Given the description of an element on the screen output the (x, y) to click on. 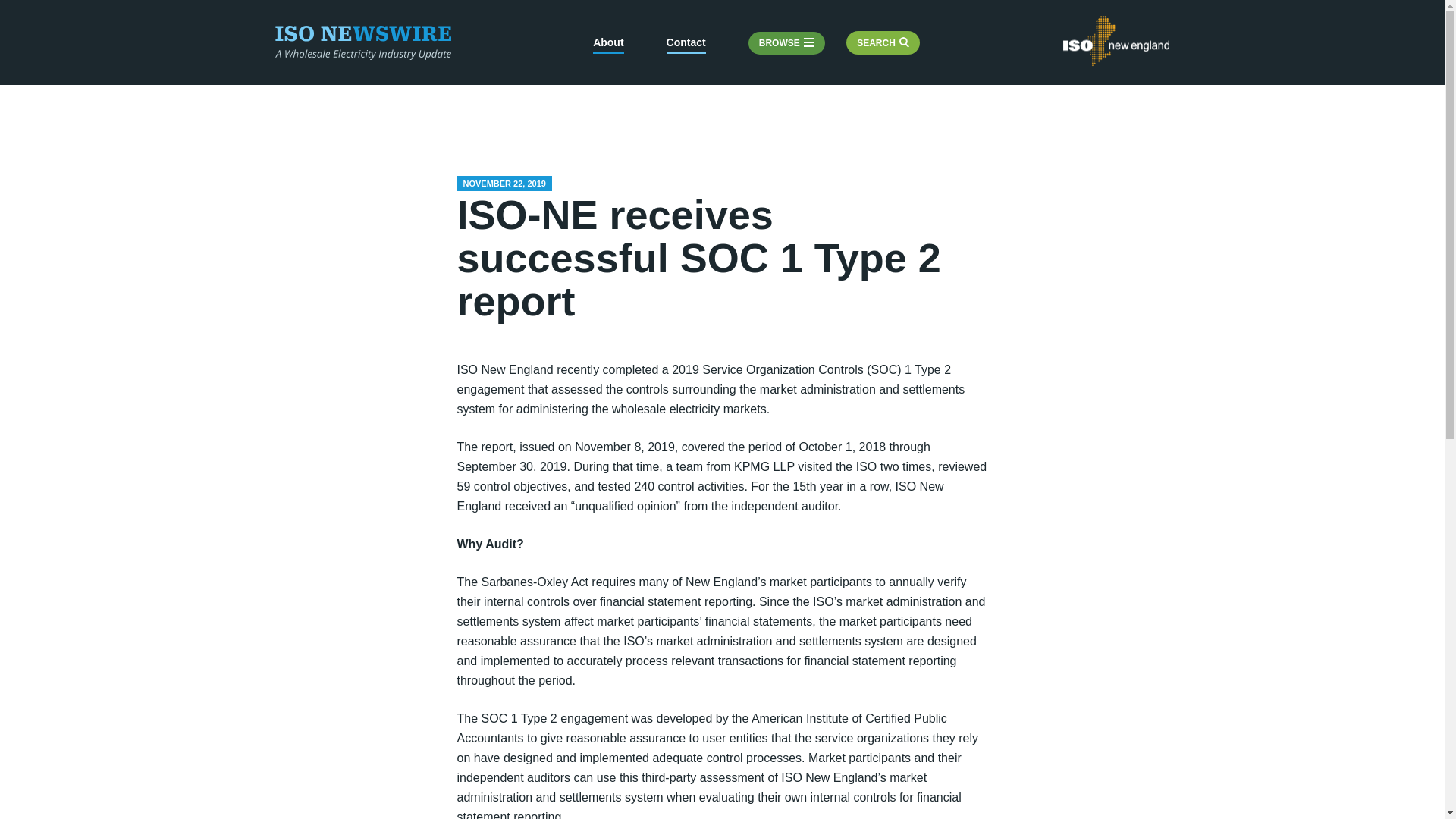
Toggle Browse (786, 43)
About (607, 45)
BROWSE (786, 43)
Toggle Search (882, 43)
SEARCH (882, 43)
Contact (686, 45)
